Given the description of an element on the screen output the (x, y) to click on. 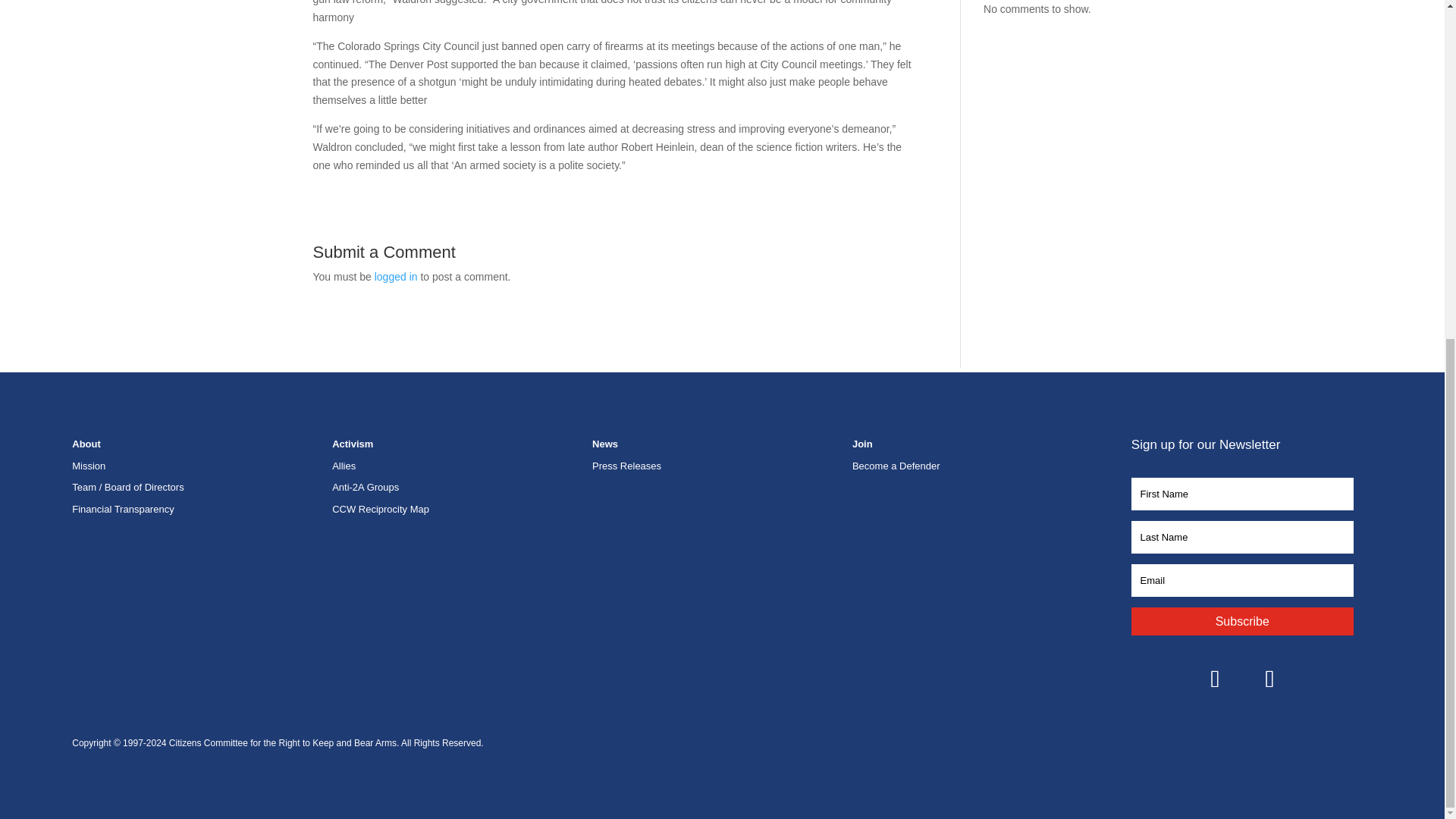
Subscribe (1242, 621)
logged in (395, 276)
Follow on Facebook (1215, 678)
Follow on X (1269, 678)
